Given the description of an element on the screen output the (x, y) to click on. 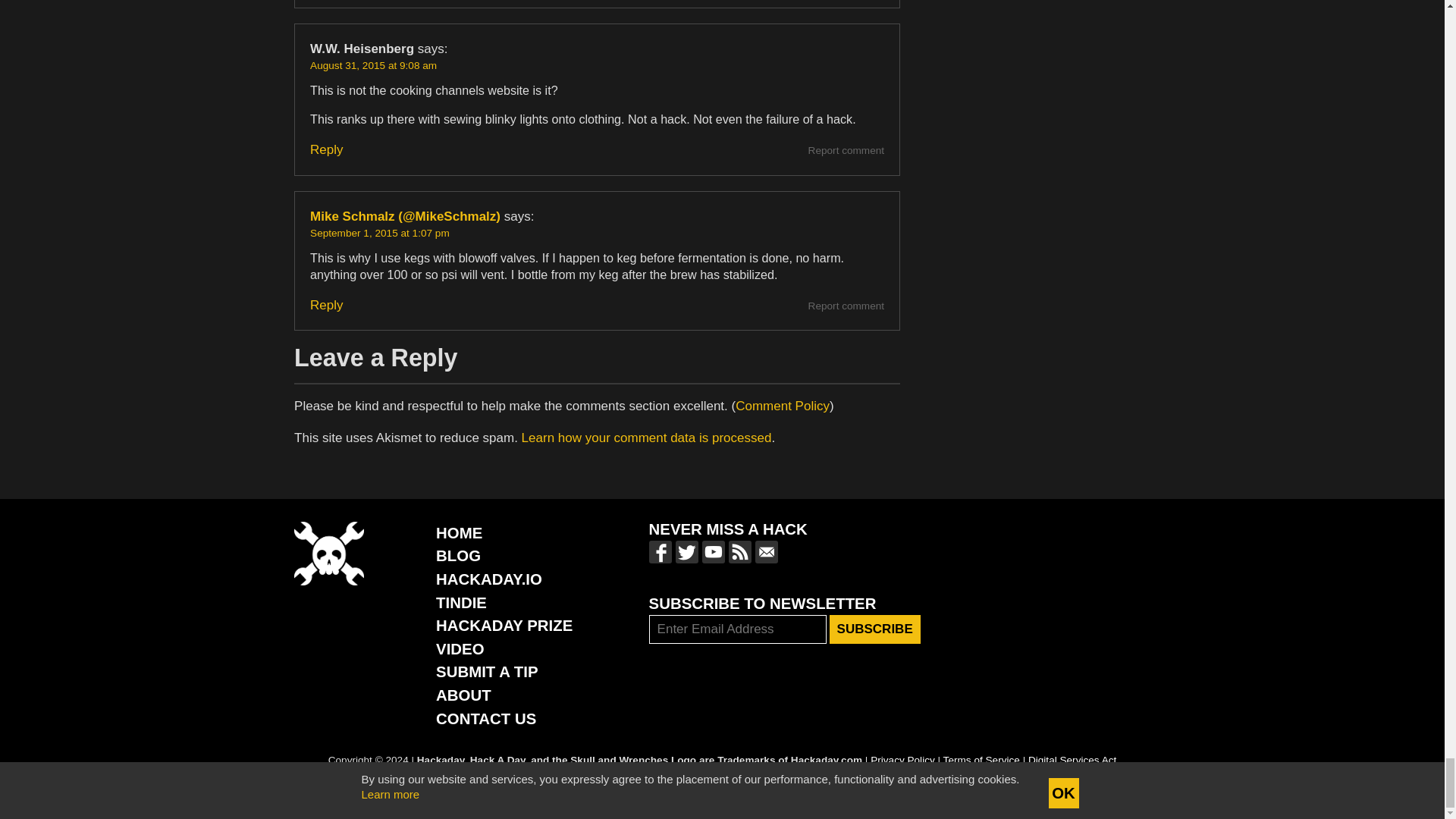
Build Something that Matters (503, 625)
Subscribe (874, 629)
